Given the description of an element on the screen output the (x, y) to click on. 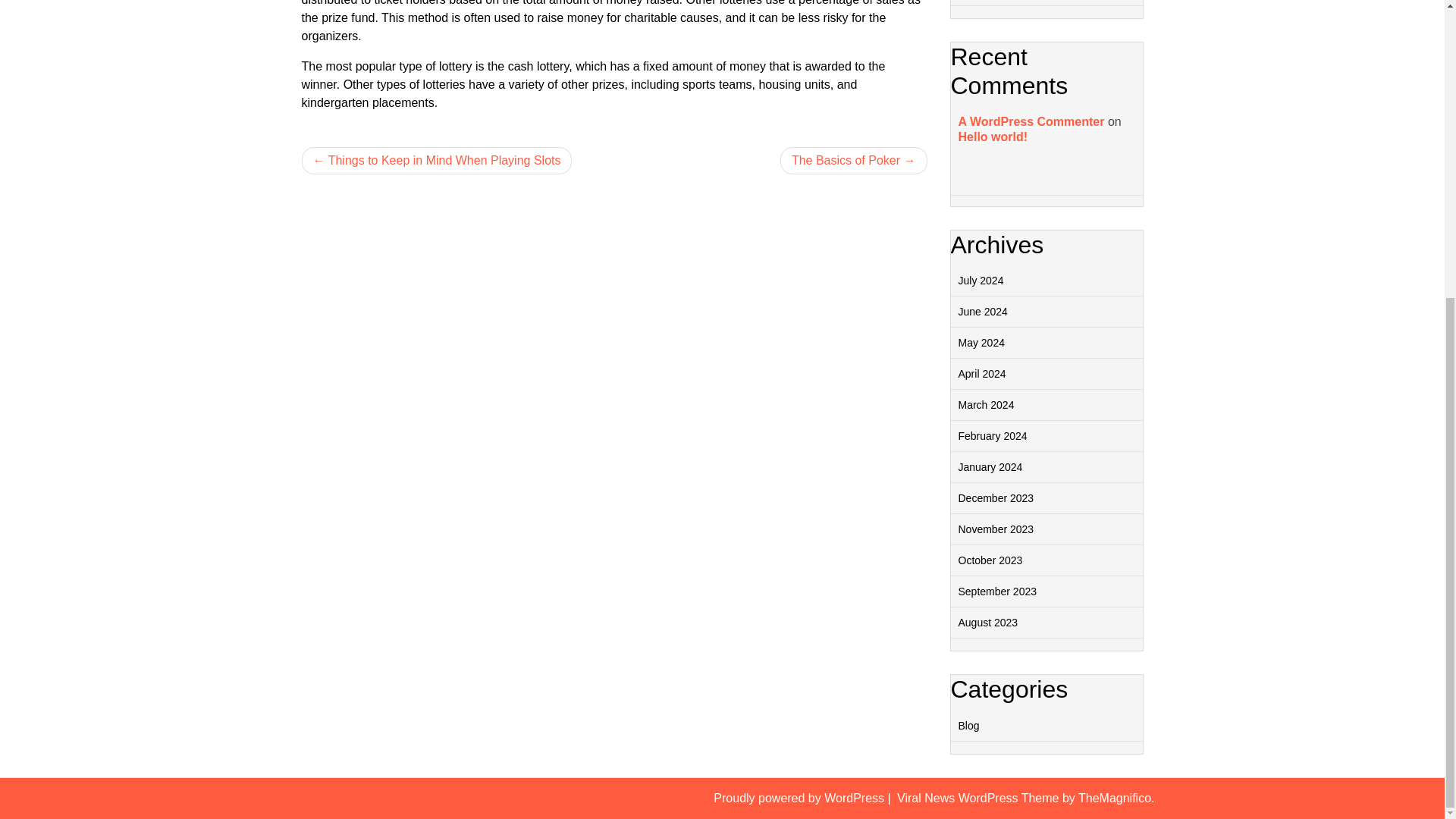
June 2024 (982, 311)
May 2024 (981, 342)
October 2023 (990, 560)
December 2023 (995, 498)
Hello world! (992, 136)
The Basics of Poker (853, 159)
February 2024 (992, 435)
July 2024 (981, 280)
Blog (968, 725)
March 2024 (986, 404)
April 2024 (982, 373)
A WordPress Commenter (1031, 121)
Viral News WordPress Theme (979, 797)
Proudly powered by WordPress (799, 797)
August 2023 (987, 622)
